Given the description of an element on the screen output the (x, y) to click on. 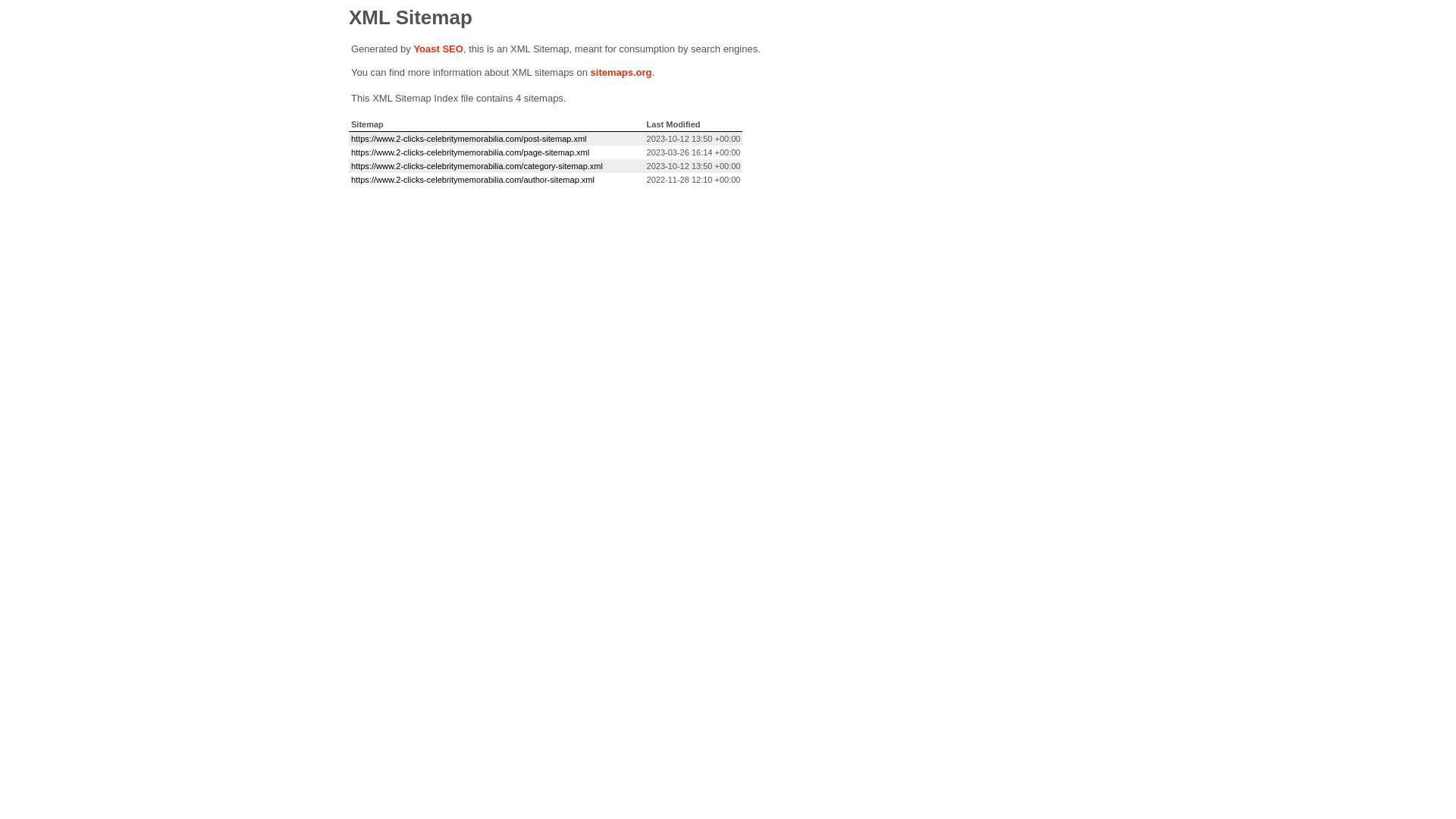
sitemaps.org Element type: text (621, 72)
Yoast SEO Element type: text (438, 48)
